Given the description of an element on the screen output the (x, y) to click on. 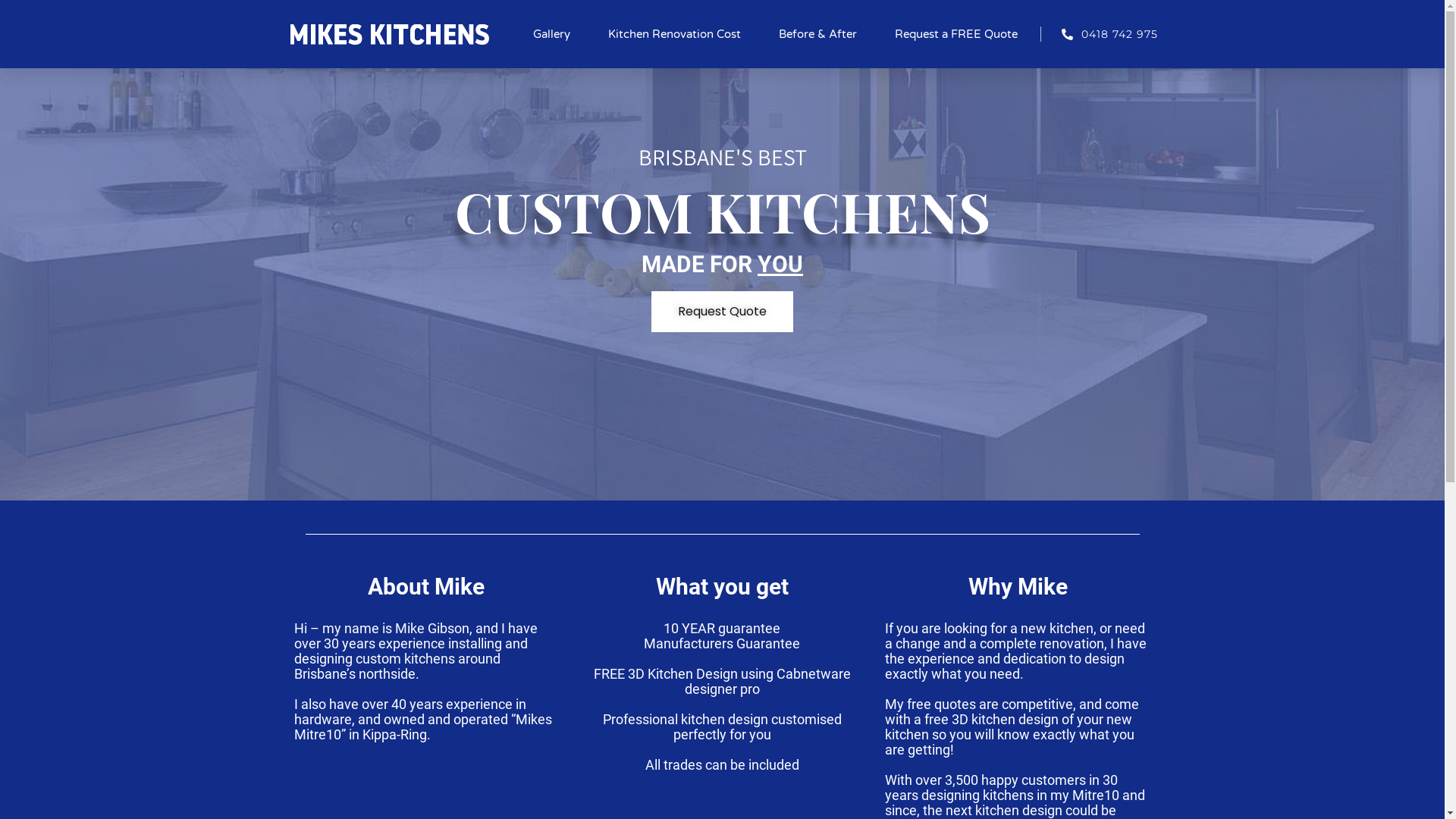
0418 742 975 Element type: text (1099, 33)
Request a FREE Quote Element type: text (955, 34)
Request Quote Element type: text (722, 311)
Kitchen Renovation Cost Element type: text (674, 34)
Before & After Element type: text (817, 34)
Gallery Element type: text (551, 34)
